Given the description of an element on the screen output the (x, y) to click on. 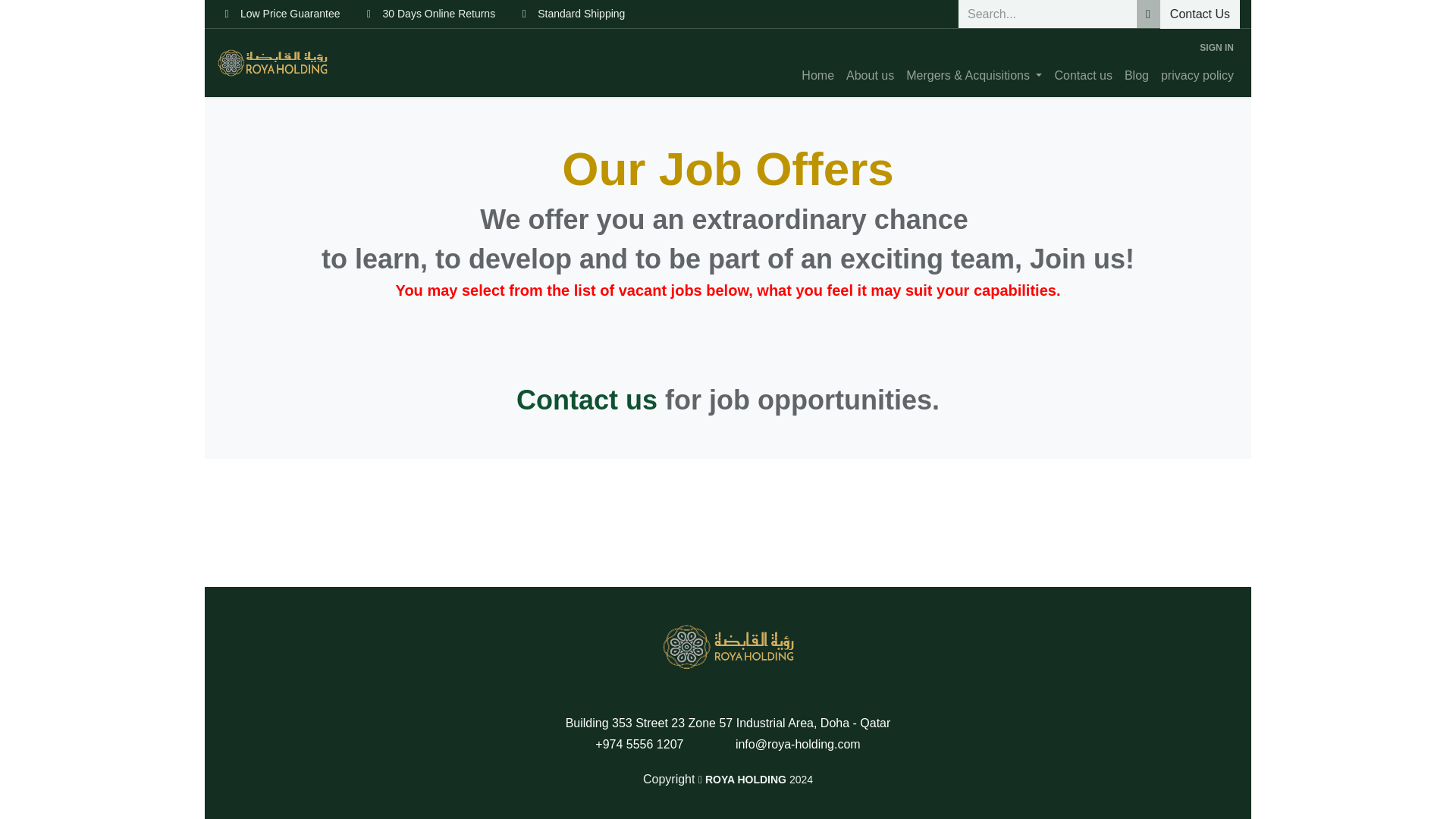
Contact us (587, 399)
MyCompany (727, 646)
privacy policy (1197, 75)
About us (869, 75)
Roya Holding (272, 62)
Building 353 Street 23 Zone 57 Industrial Area, Doha - Qatar (728, 721)
Home (817, 75)
Contact us (1083, 75)
Blog (1136, 75)
SIGN IN (1216, 47)
Contact Us (1200, 14)
